Given the description of an element on the screen output the (x, y) to click on. 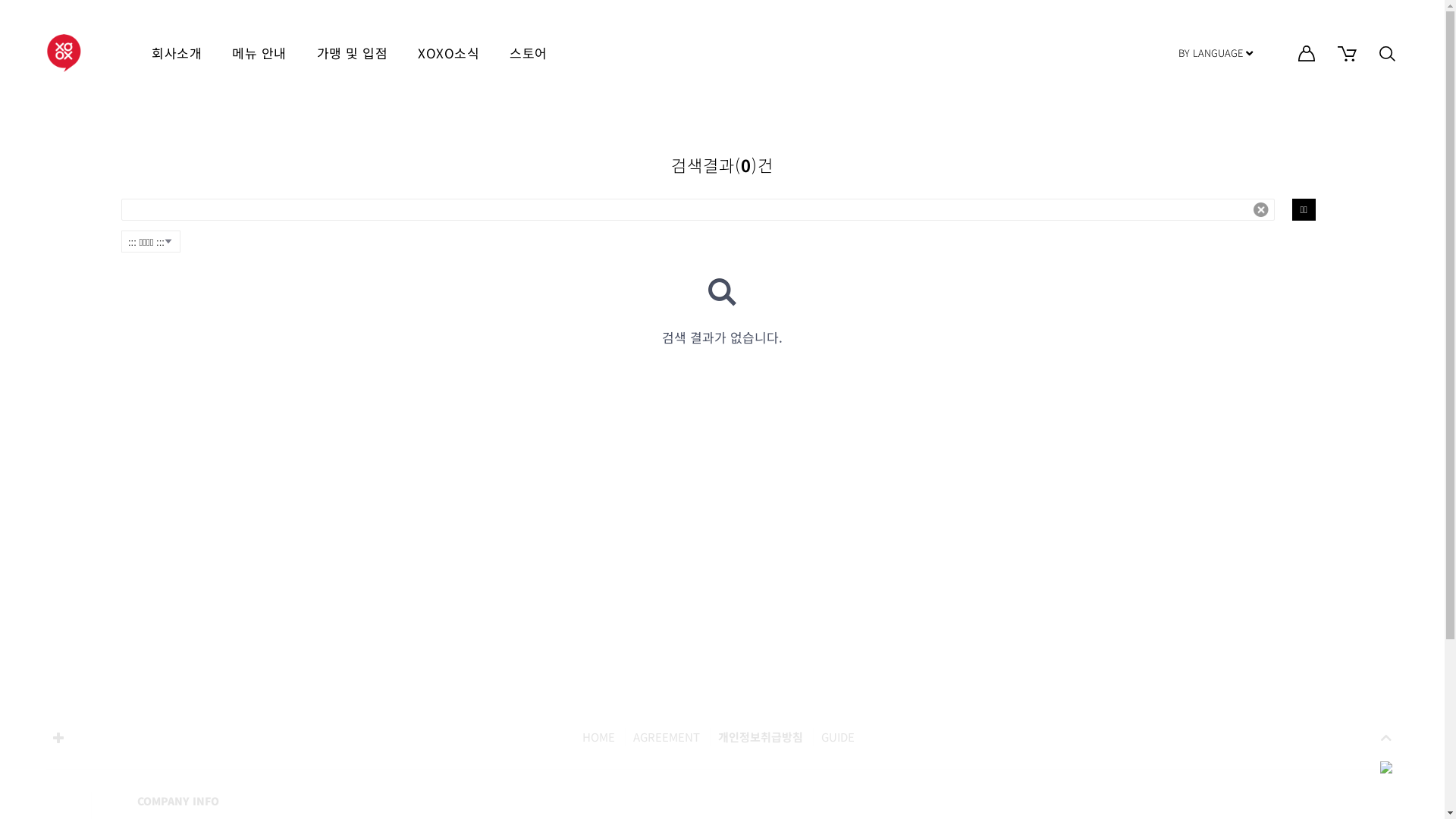
BY LANGUAGE Element type: text (1215, 53)
GUIDE Element type: text (837, 737)
AGREEMENT Element type: text (665, 737)
HOME Element type: text (602, 737)
